Given the description of an element on the screen output the (x, y) to click on. 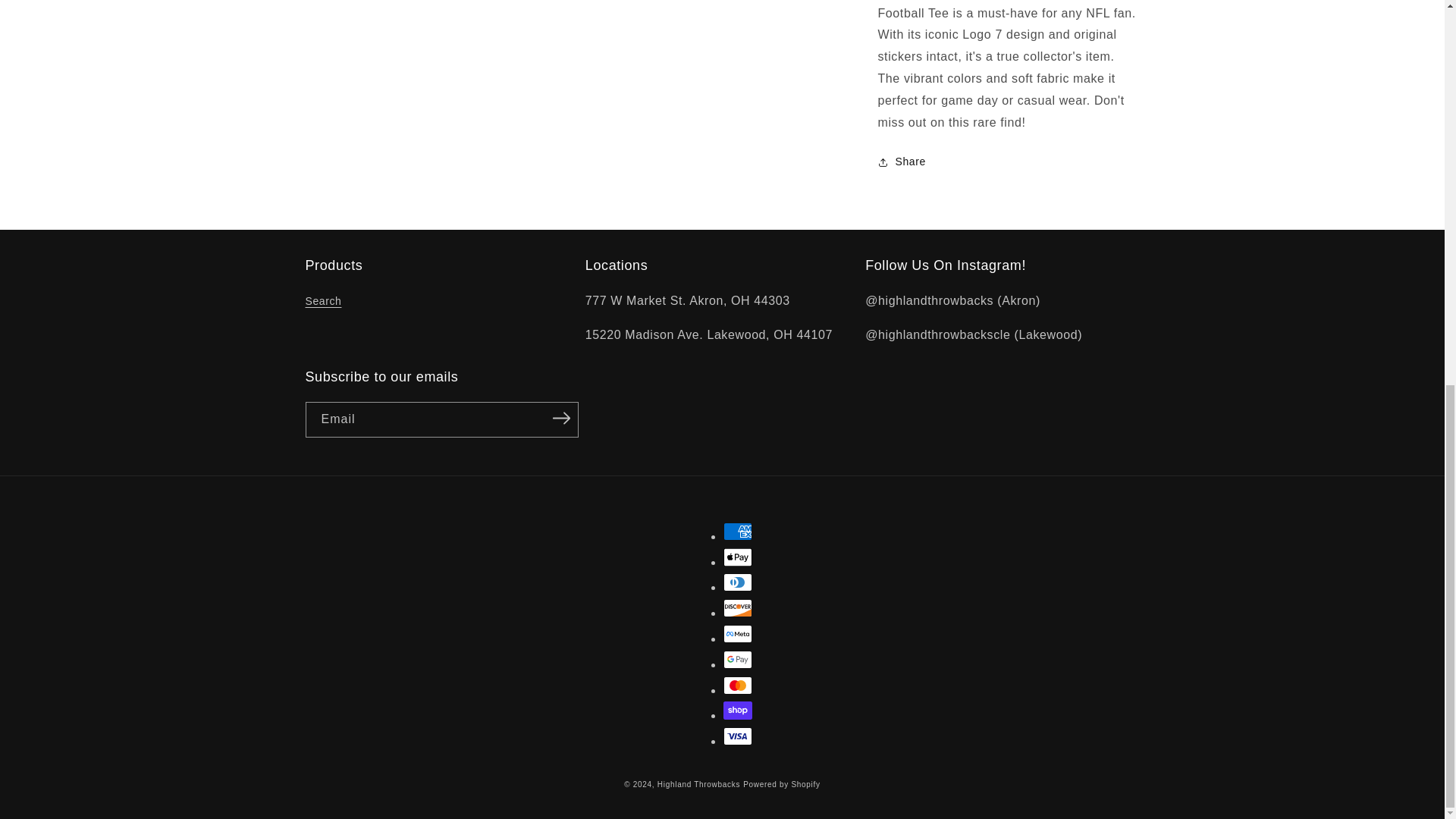
Google Pay (737, 659)
Diners Club (737, 582)
Shop Pay (737, 710)
Meta Pay (737, 633)
Apple Pay (737, 556)
American Express (737, 531)
Discover (737, 607)
Mastercard (737, 685)
Visa (737, 736)
